Given the description of an element on the screen output the (x, y) to click on. 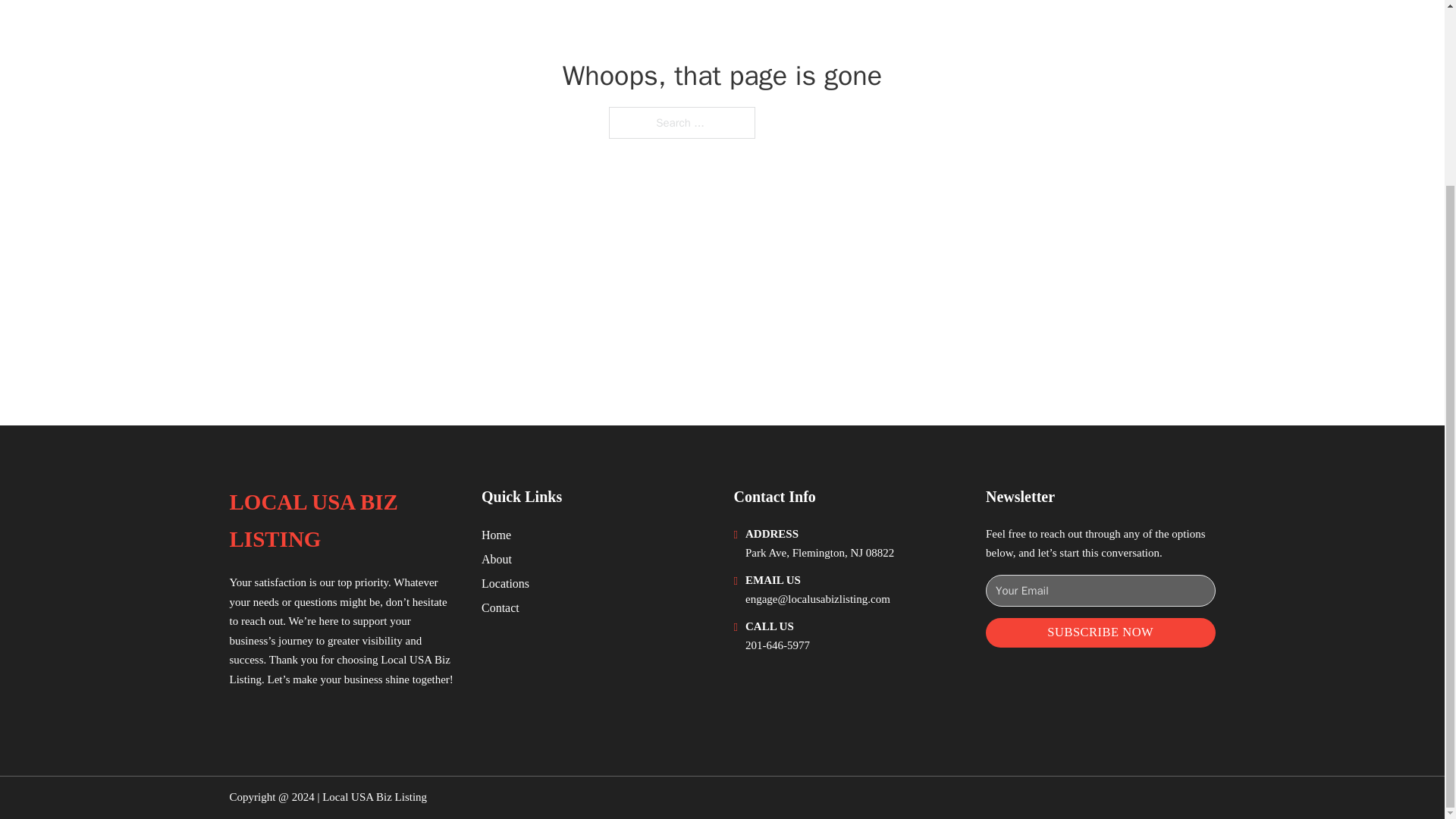
SUBSCRIBE NOW (1100, 632)
Home (496, 534)
Contact (500, 607)
201-646-5977 (777, 645)
Locations (505, 583)
About (496, 558)
LOCAL USA BIZ LISTING (343, 521)
